Given the description of an element on the screen output the (x, y) to click on. 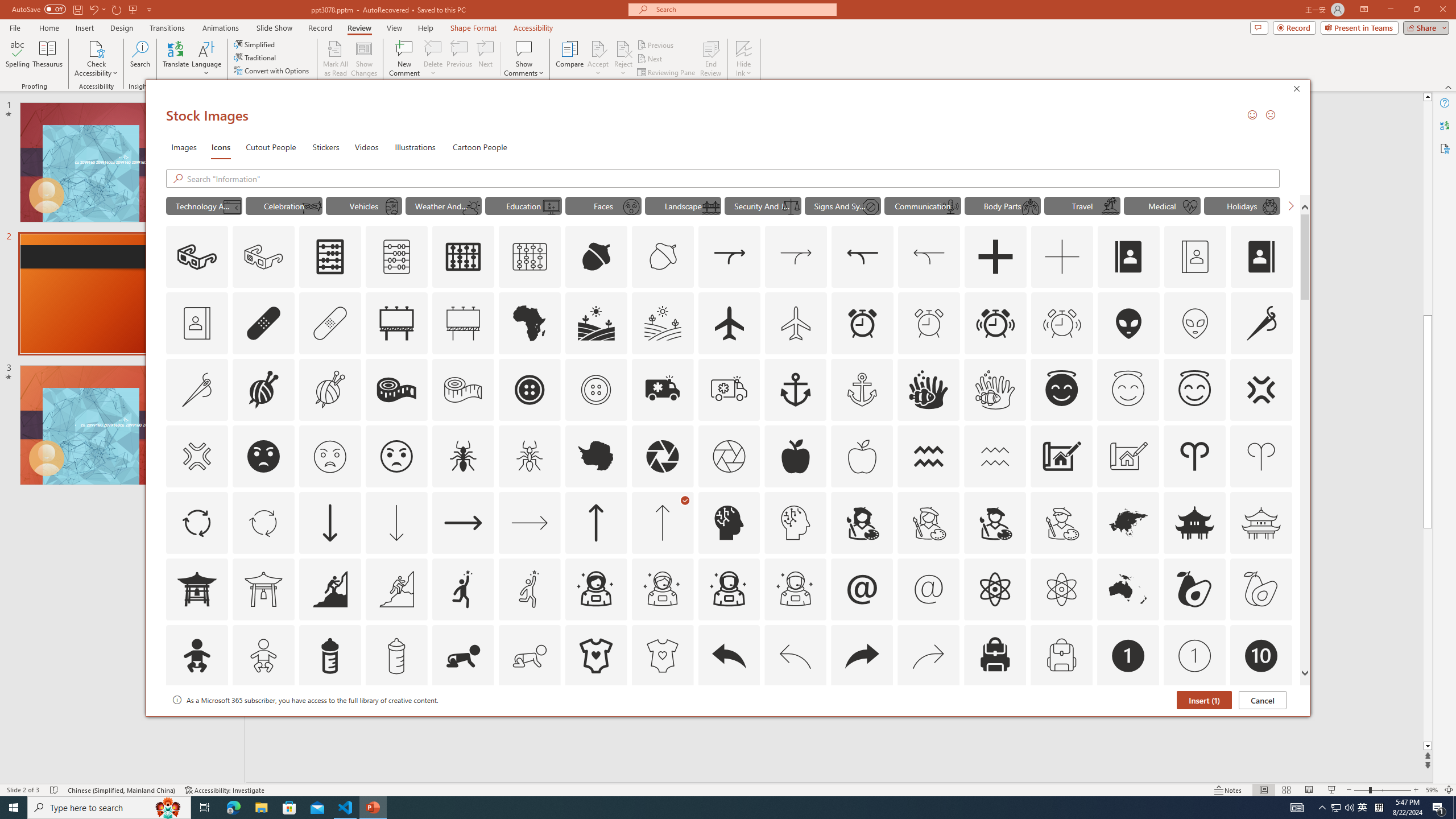
AutomationID: Icons_Baby (196, 655)
Stickers (326, 146)
AutomationID: Icons_Acquisition_LTR (729, 256)
AutomationID: Icons_Badge9_M (1260, 721)
AutomationID: Icons_Acorn_M (663, 256)
AutomationID: Icons_Badge4 (529, 721)
Cartoon People (479, 146)
AutomationID: Icons_AlienFace (1128, 323)
AutomationID: Icons_BabyOnesie (595, 655)
AutomationID: Icons_ArrowDown (329, 522)
